Given the description of an element on the screen output the (x, y) to click on. 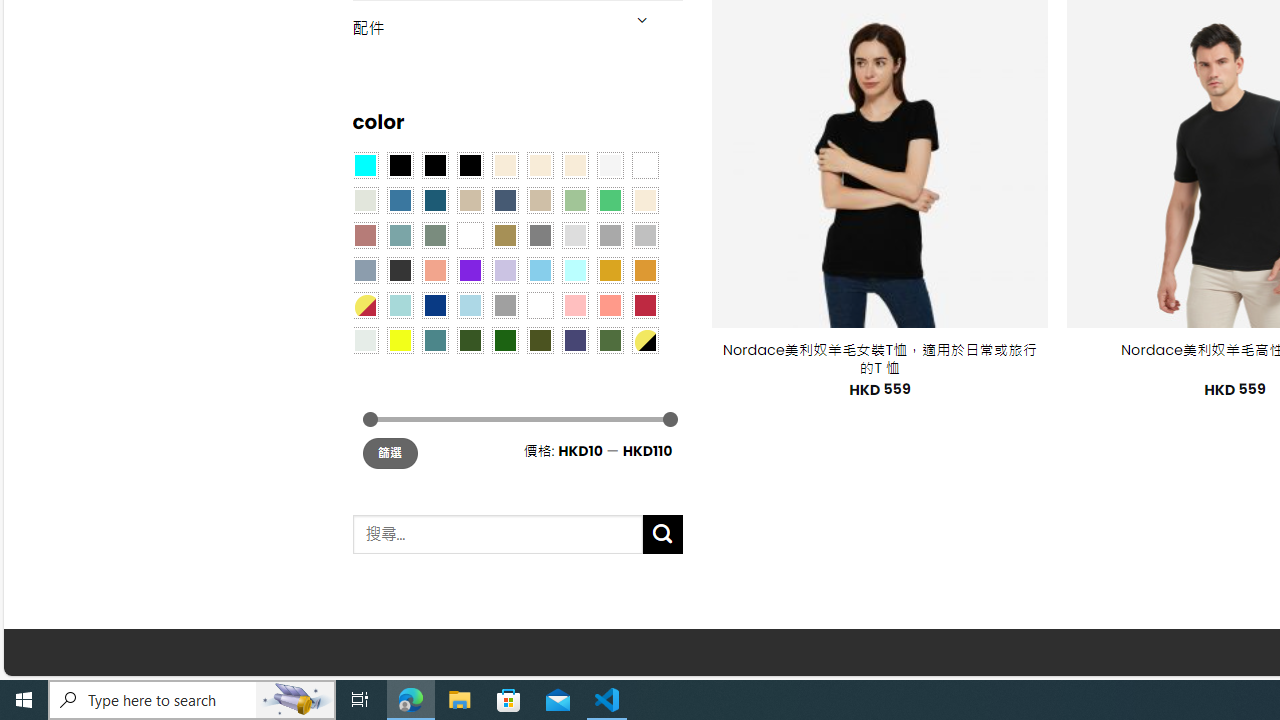
Dull Nickle (364, 339)
